Given the description of an element on the screen output the (x, y) to click on. 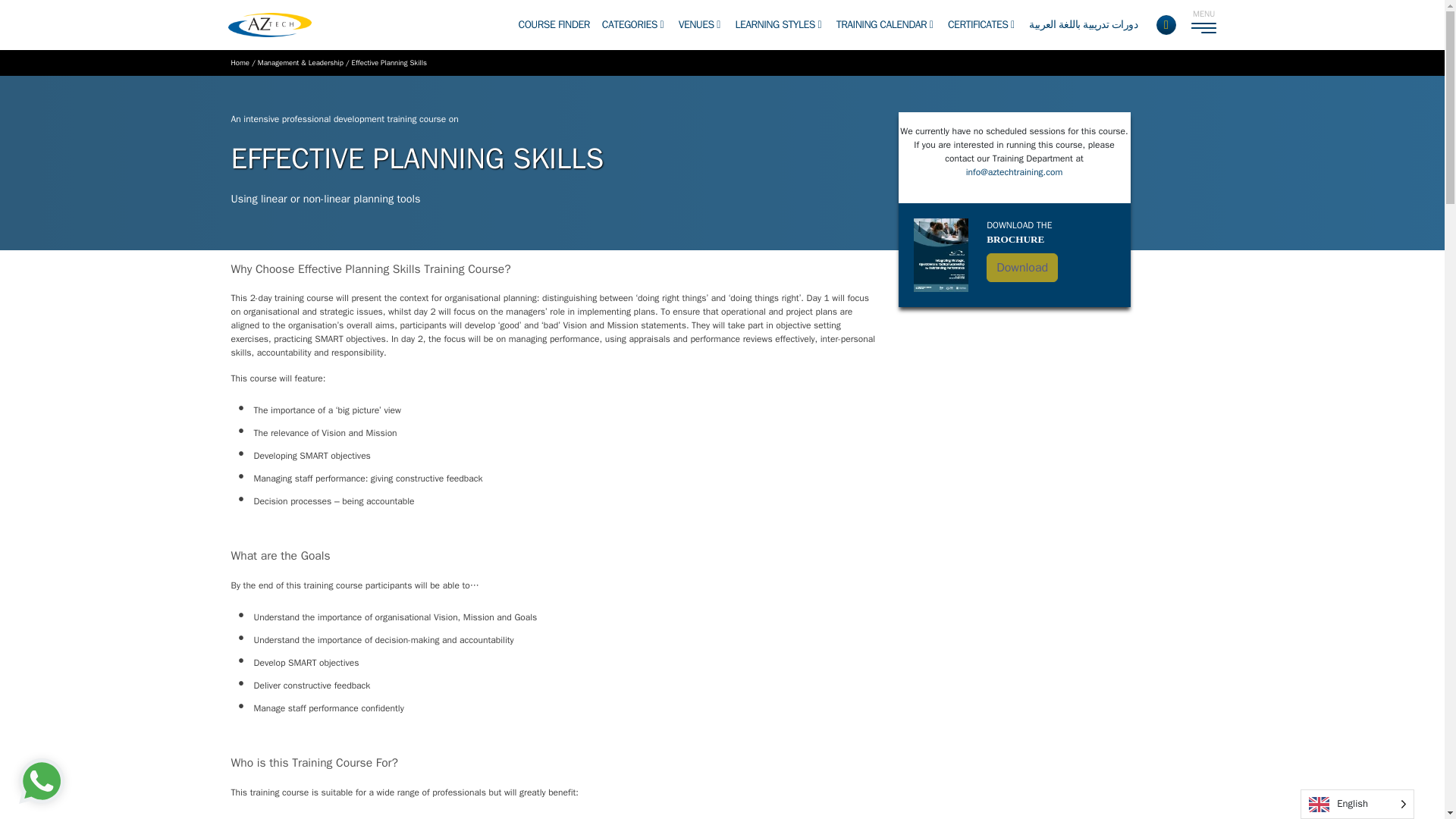
CATEGORIES (632, 24)
COURSE FINDER (553, 24)
Show Chat (42, 781)
